Given the description of an element on the screen output the (x, y) to click on. 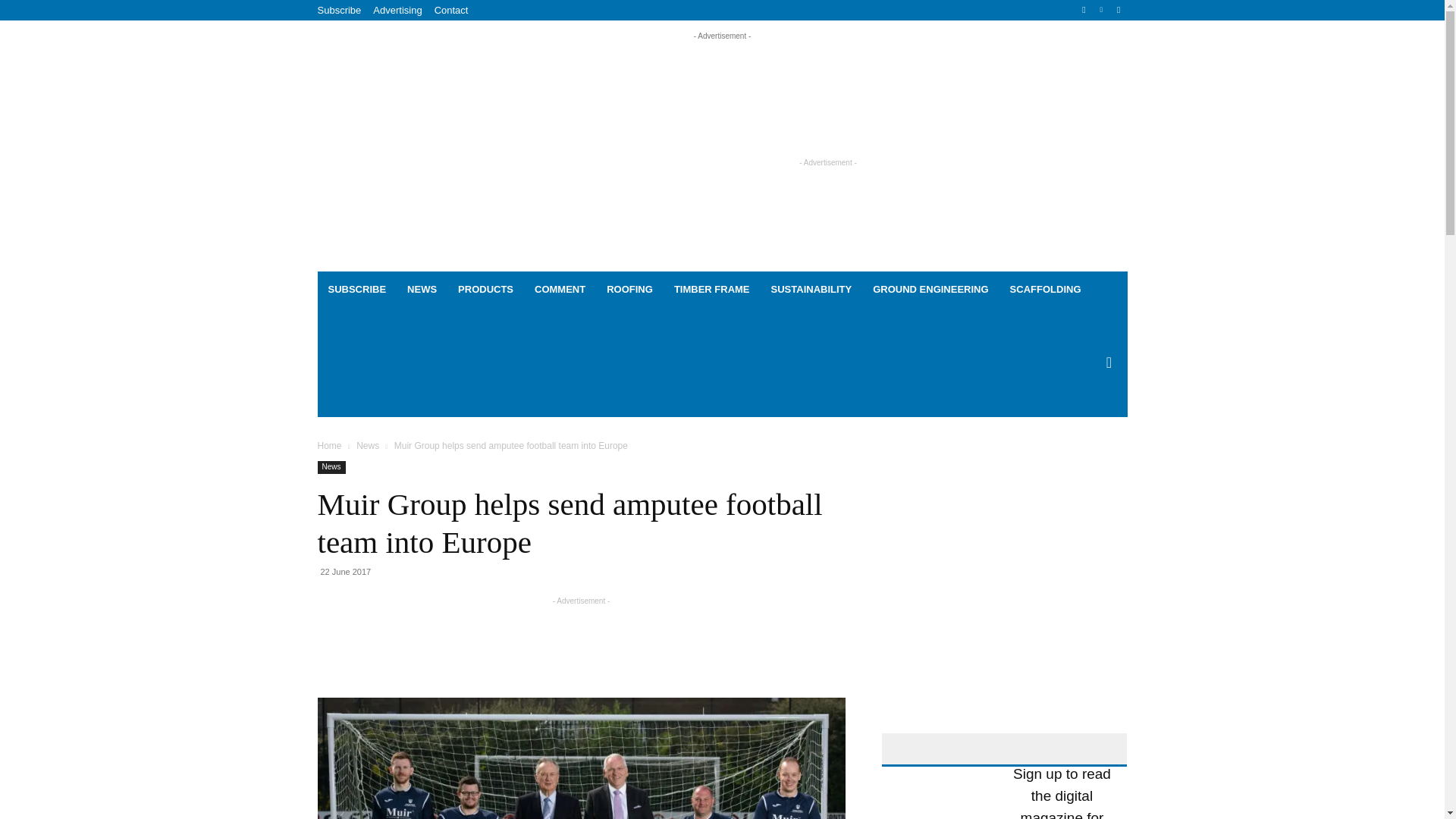
Contact (450, 9)
NEWS (421, 289)
SCAFFOLDING (1045, 289)
Advertising (397, 9)
SUSTAINABILITY (811, 289)
Facebook (1084, 9)
ROOFING (629, 289)
GROUND ENGINEERING (929, 289)
TIMBER FRAME (711, 289)
SUBSCRIBE (356, 289)
